Given the description of an element on the screen output the (x, y) to click on. 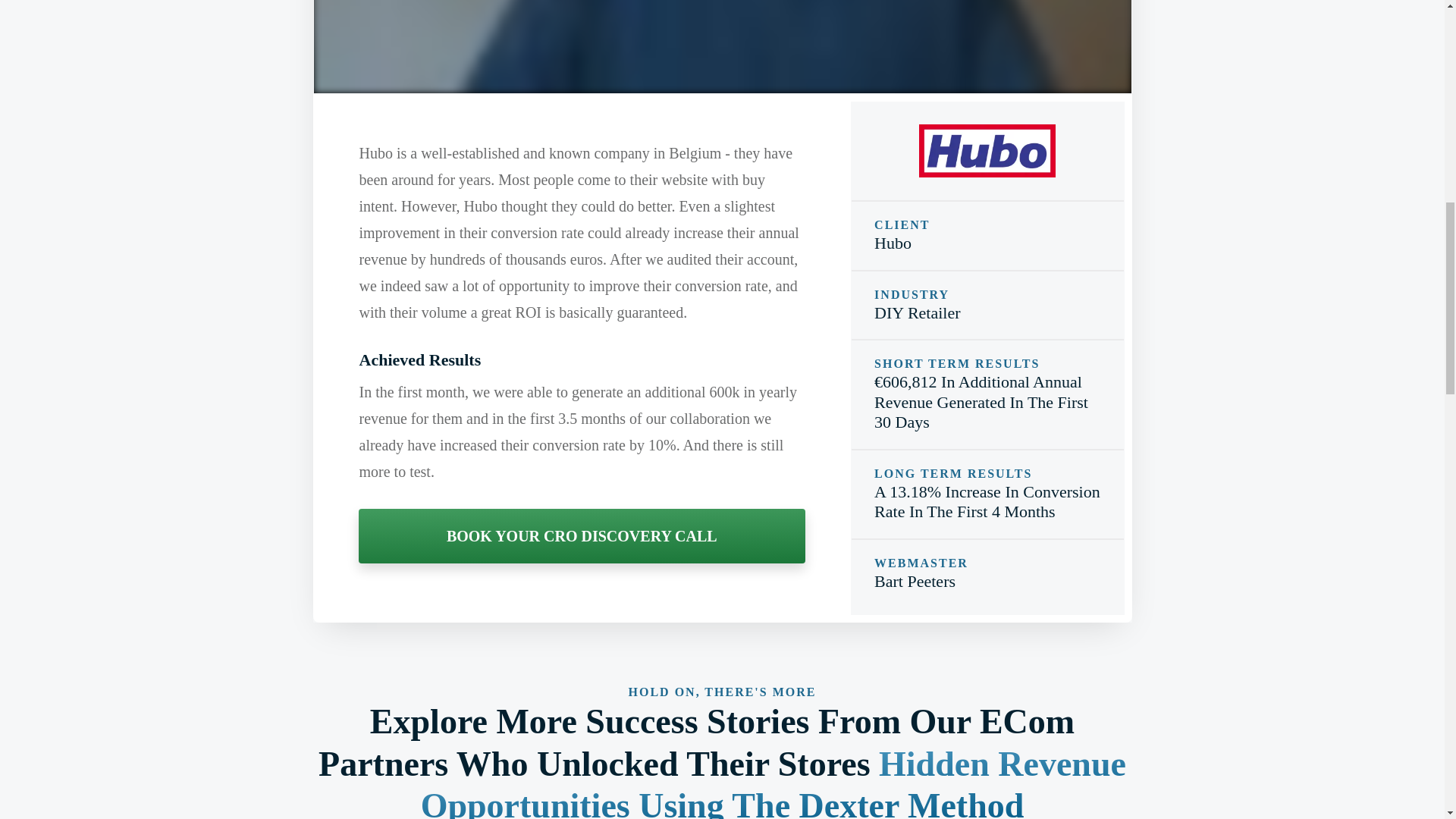
BOOK YOUR CRO DISCOVERY CALL (581, 535)
